Given the description of an element on the screen output the (x, y) to click on. 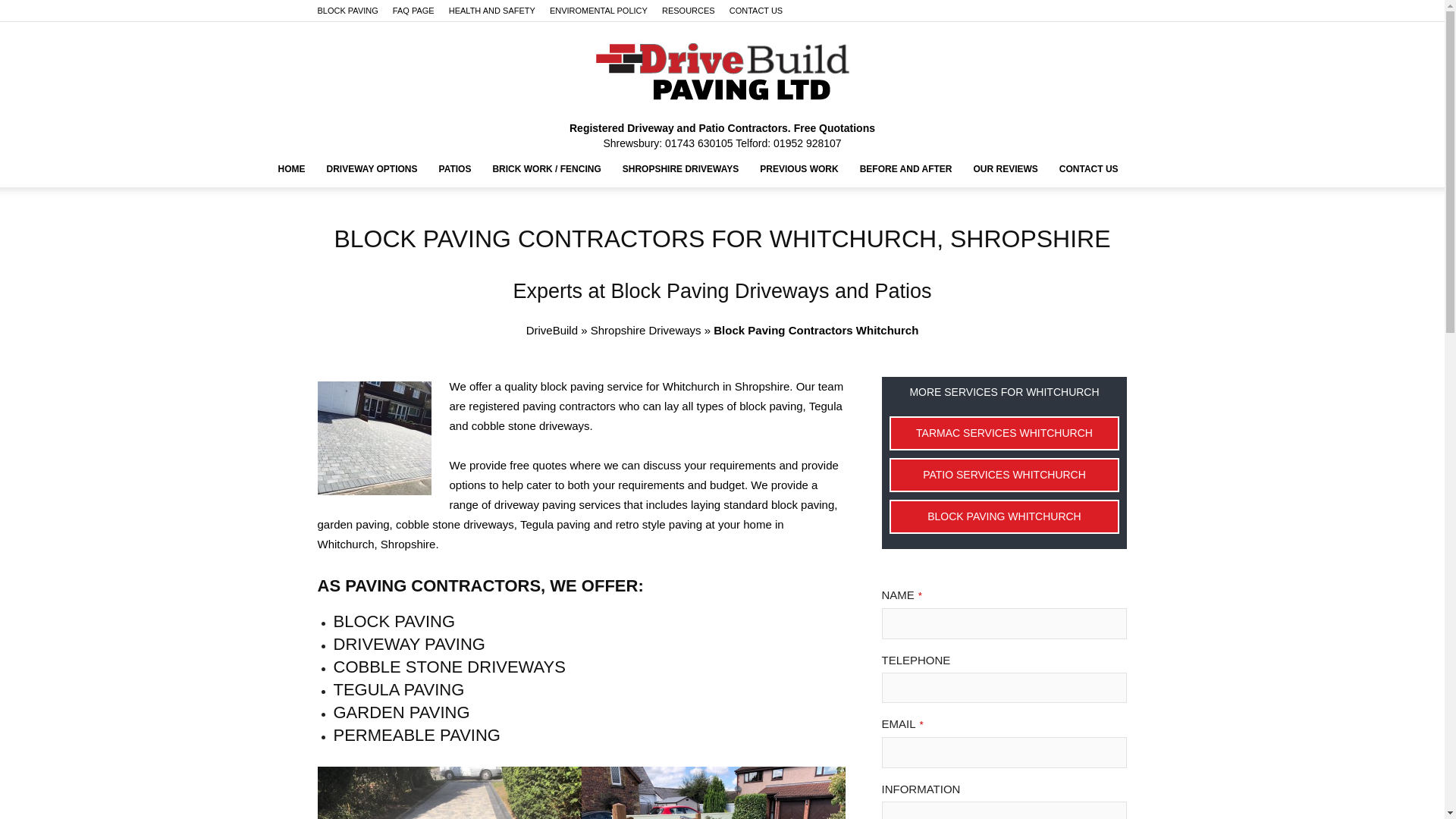
PATIOS (454, 168)
BLOCK PAVING (347, 10)
PREVIOUS WORK (798, 168)
ENVIROMENTAL POLICY (598, 10)
FAQ PAGE (413, 10)
OUR REVIEWS (1005, 168)
CONTACT US (756, 10)
SHROPSHIRE DRIVEWAYS (680, 168)
Telford: 01952 928107 (788, 143)
Shrewsbury: 01743 630105 (667, 143)
